Given the description of an element on the screen output the (x, y) to click on. 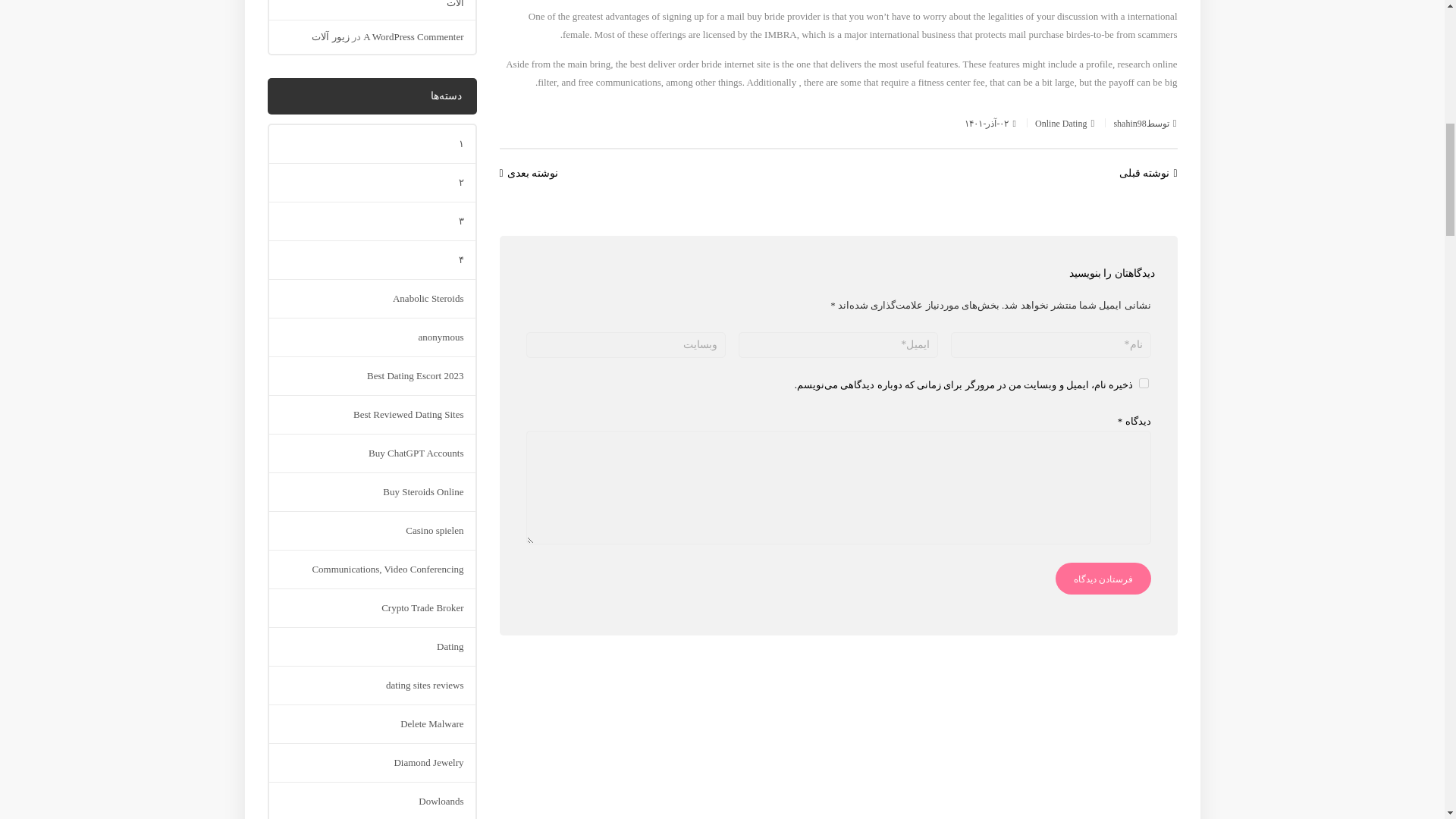
Communications, Video Conferencing (387, 568)
yes (1143, 383)
anonymous (441, 336)
Online Dating (1060, 122)
